Given the description of an element on the screen output the (x, y) to click on. 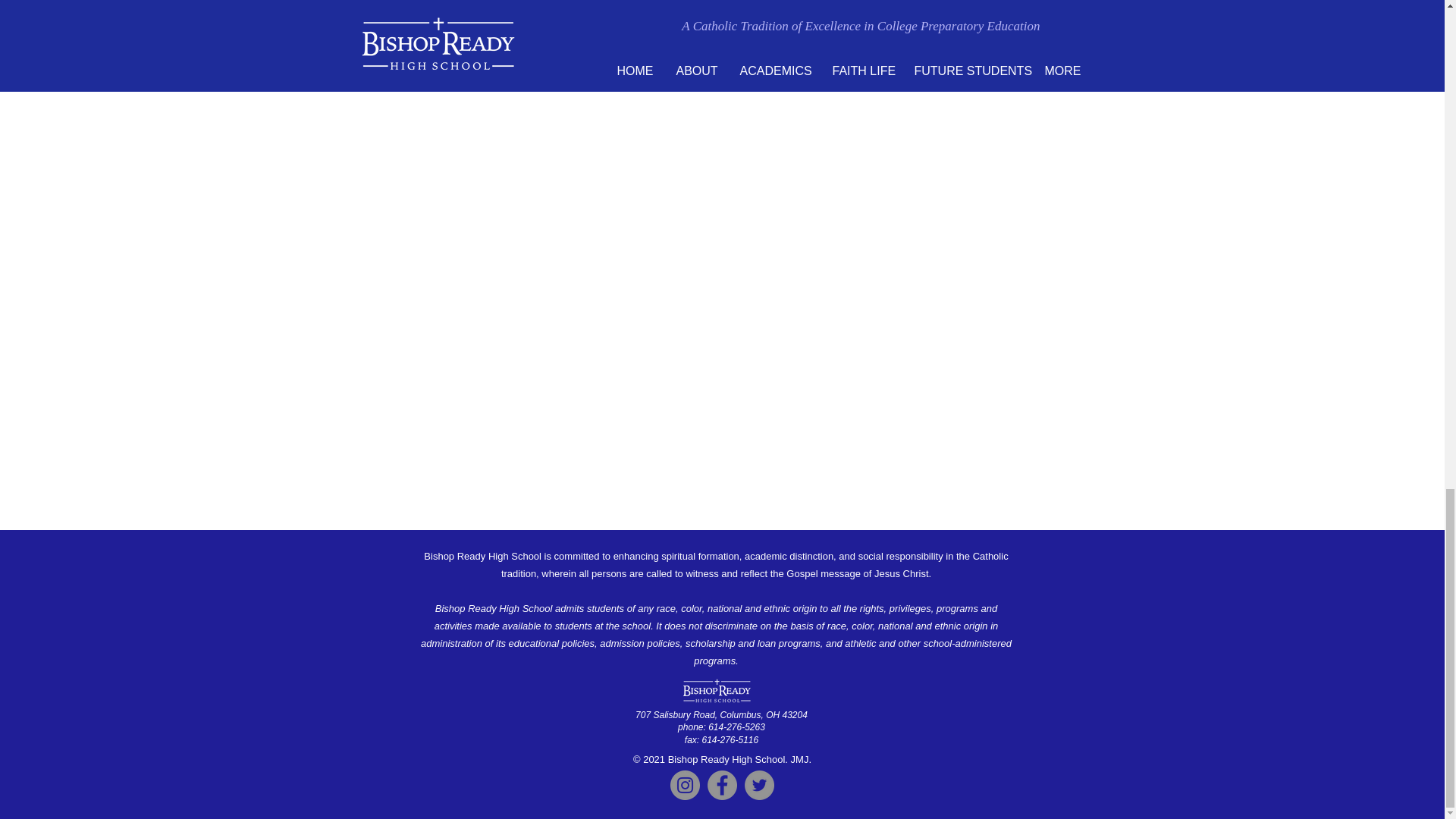
BRHSlogo.png (715, 690)
